Given the description of an element on the screen output the (x, y) to click on. 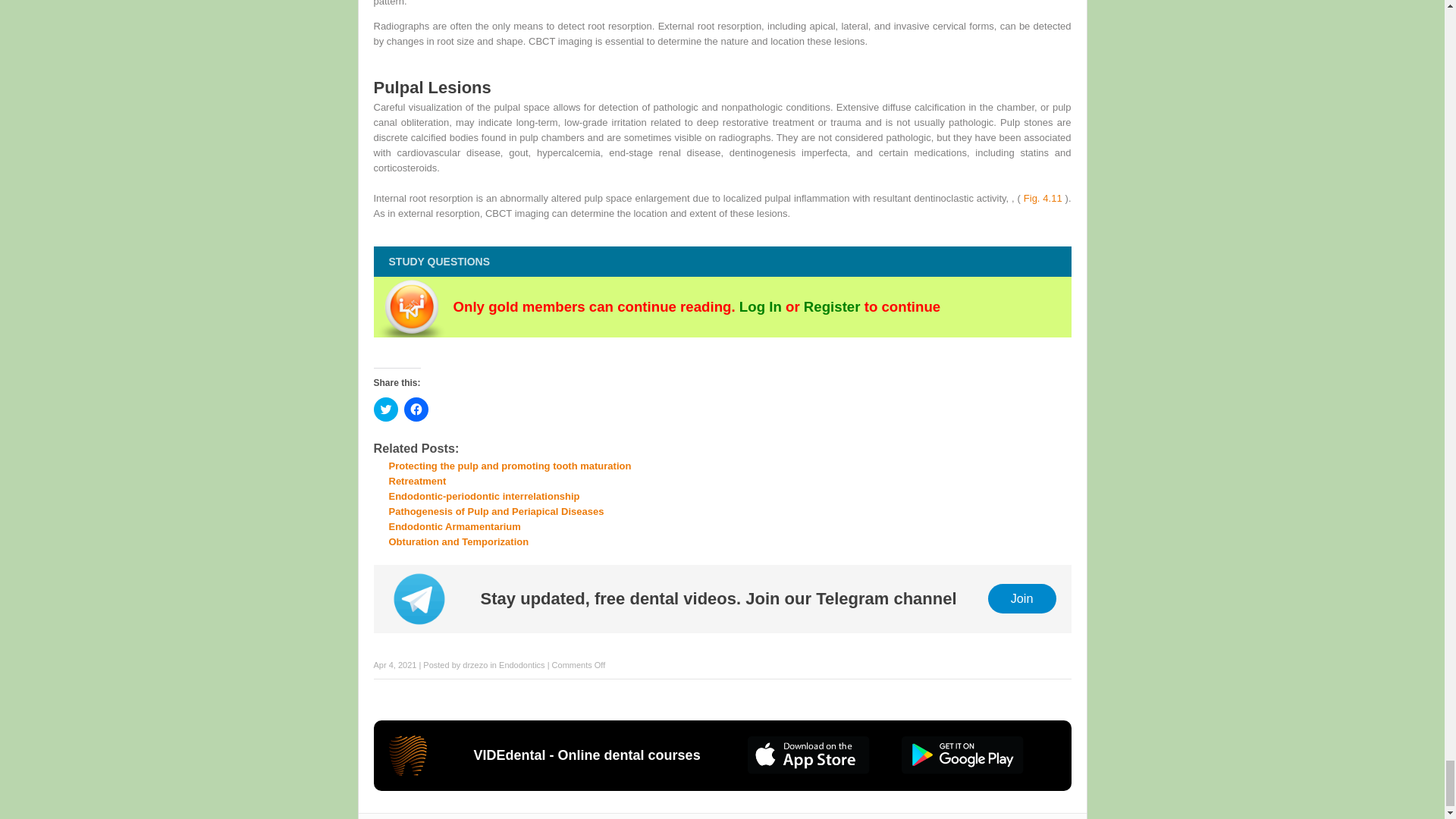
Endodontic-periodontic interrelationship (483, 496)
Retreatment (416, 480)
Endodontic Armamentarium (453, 526)
Click to share on Twitter (384, 409)
Click to share on Facebook (415, 409)
Protecting the pulp and promoting tooth maturation (509, 465)
Obturation and Temporization (458, 541)
Posts by drzezo (475, 664)
Pathogenesis of Pulp and Periapical Diseases (496, 511)
